Given the description of an element on the screen output the (x, y) to click on. 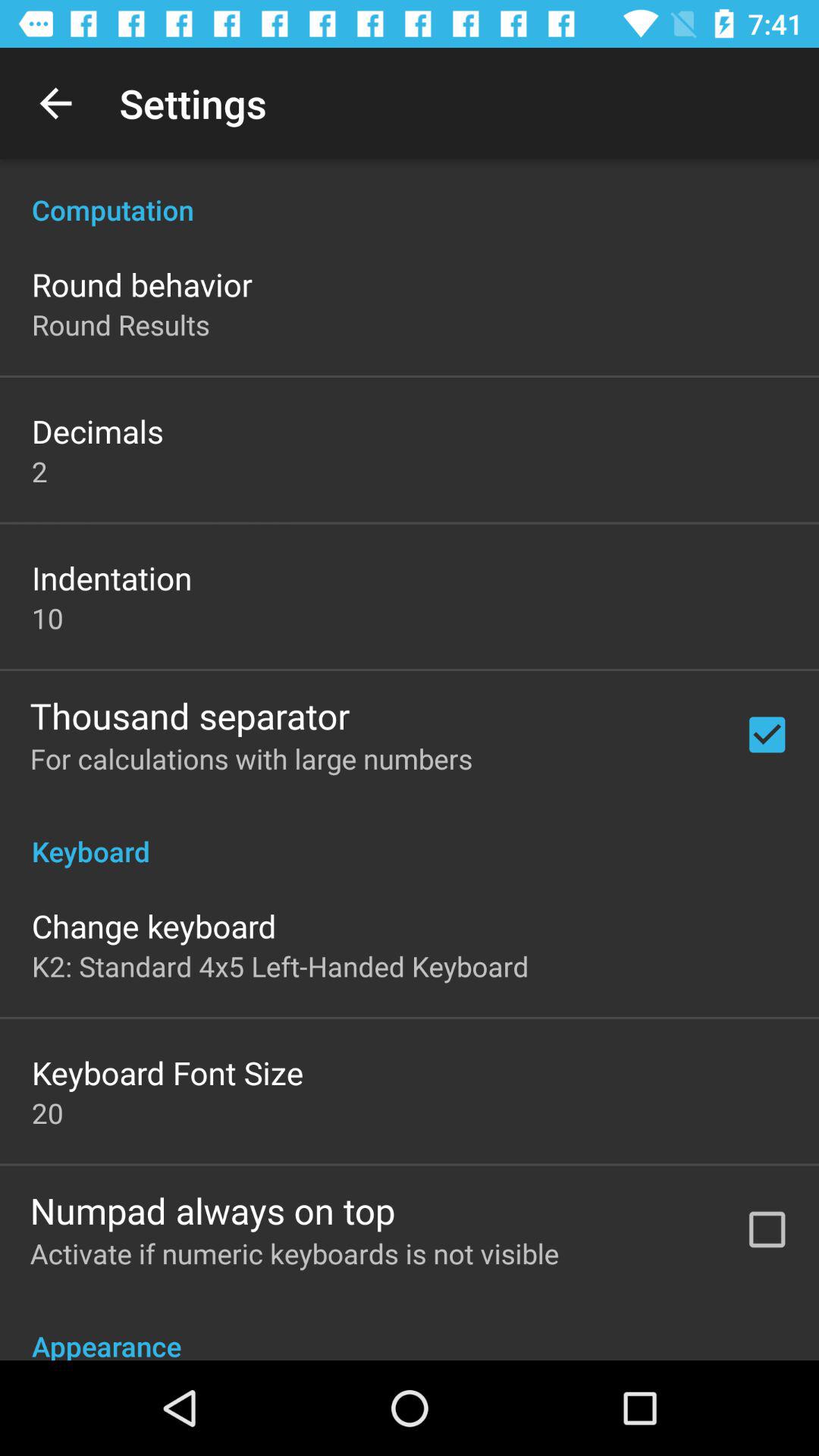
launch the thousand separator icon (189, 715)
